Given the description of an element on the screen output the (x, y) to click on. 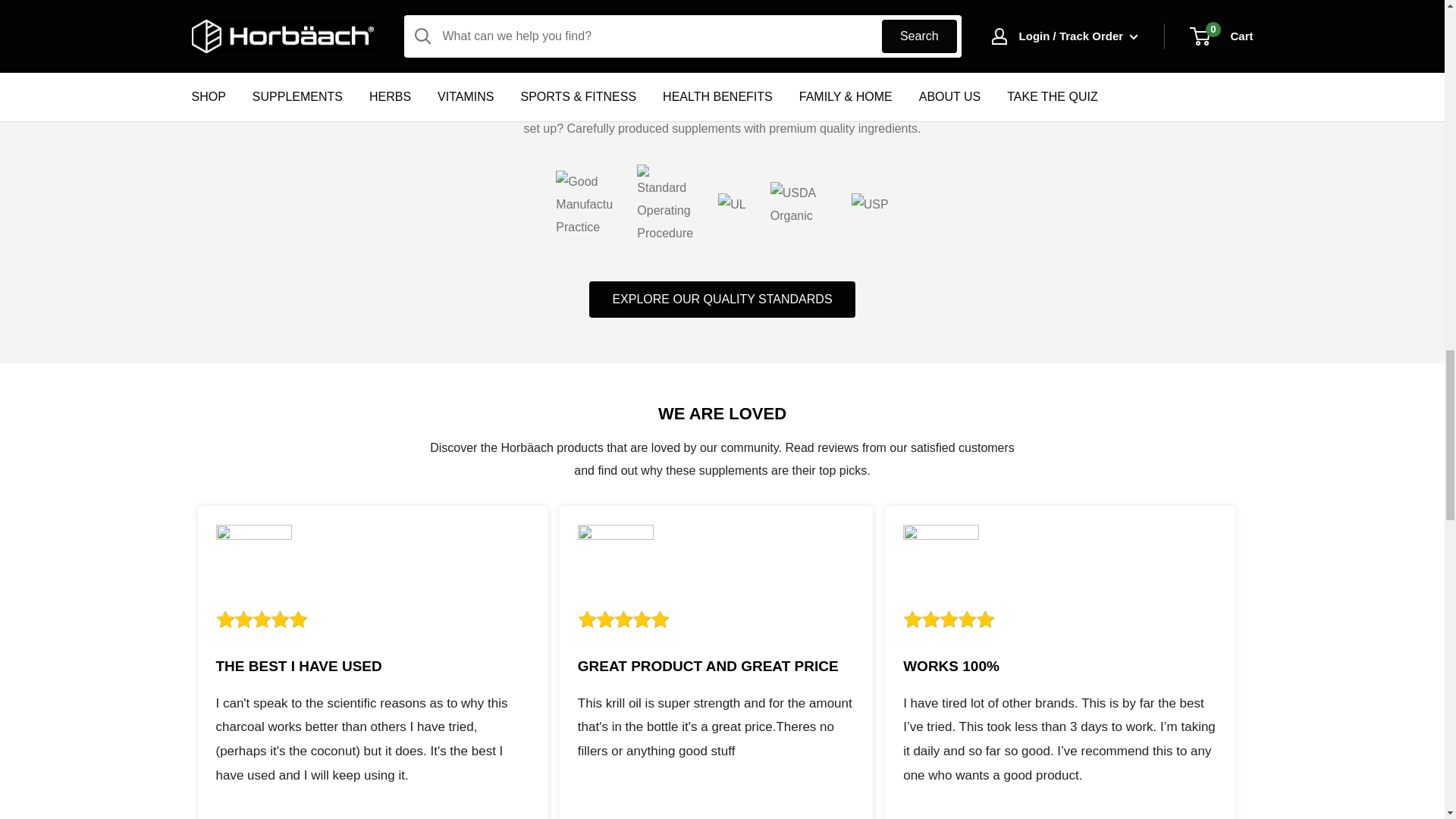
Explore our quality standards (721, 299)
